Given the description of an element on the screen output the (x, y) to click on. 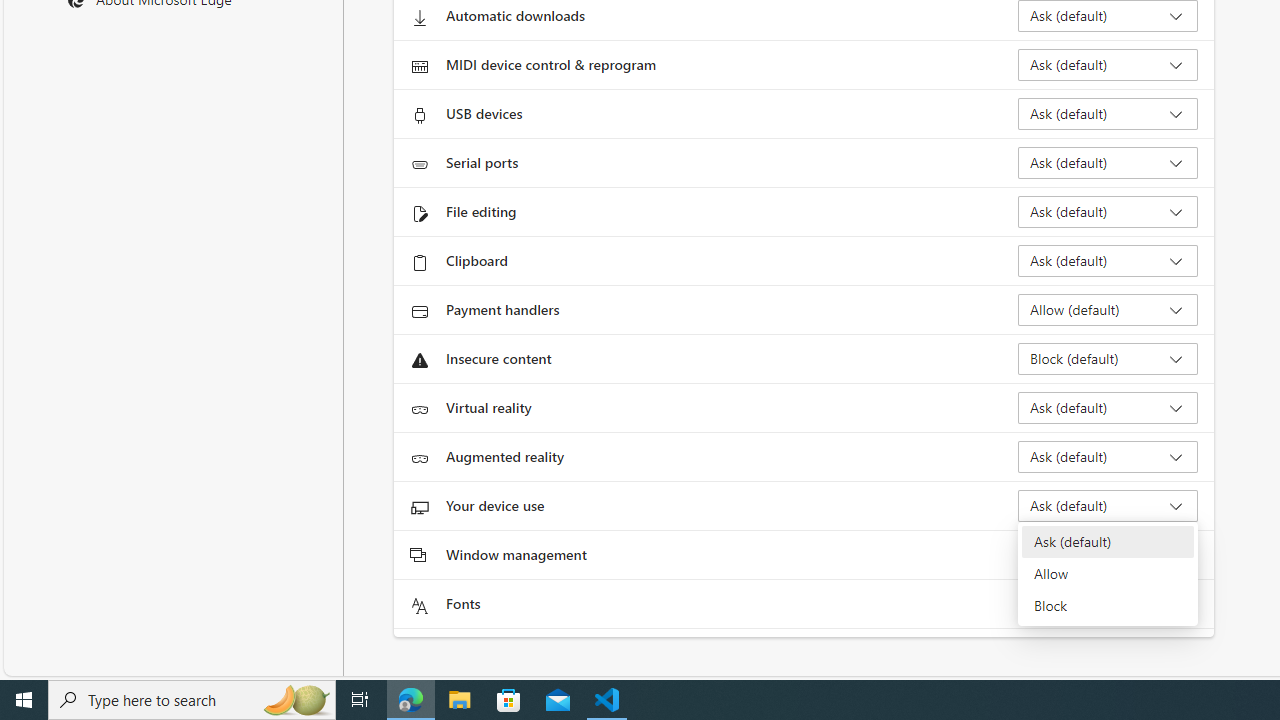
Automatic downloads Ask (default) (1107, 15)
